Given the description of an element on the screen output the (x, y) to click on. 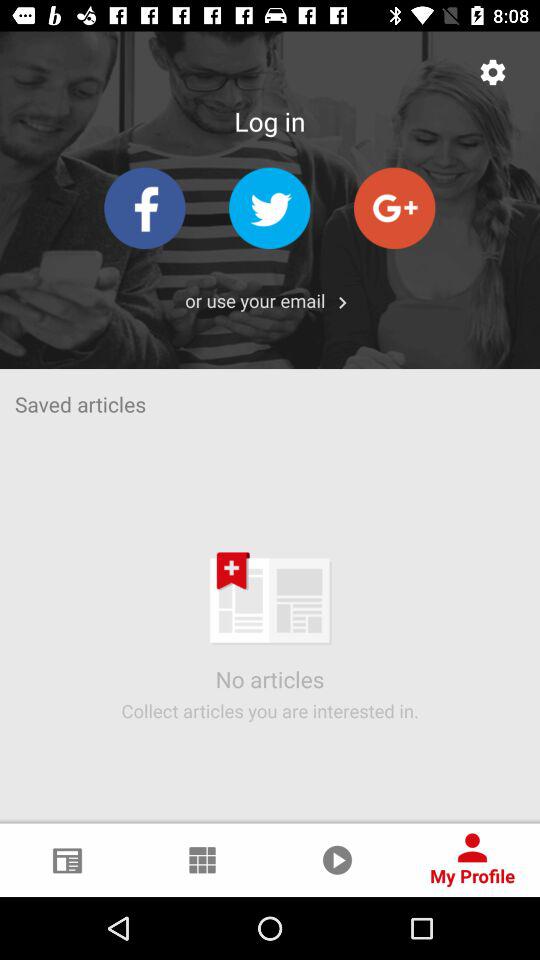
choose g+ (394, 208)
